Given the description of an element on the screen output the (x, y) to click on. 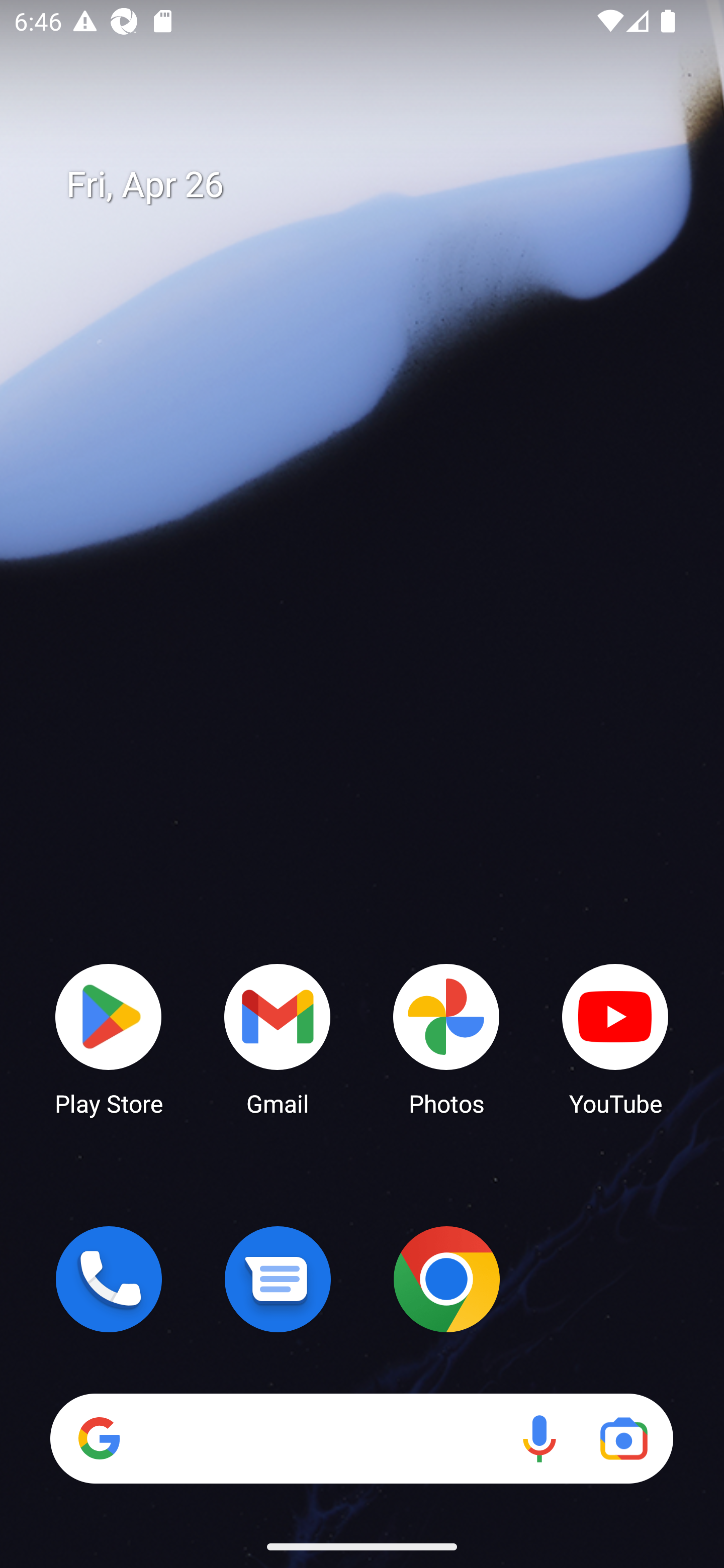
Fri, Apr 26 (375, 184)
Play Store (108, 1038)
Gmail (277, 1038)
Photos (445, 1038)
YouTube (615, 1038)
Phone (108, 1279)
Messages (277, 1279)
Chrome (446, 1279)
Search Voice search Google Lens (361, 1438)
Voice search (539, 1438)
Google Lens (623, 1438)
